Given the description of an element on the screen output the (x, y) to click on. 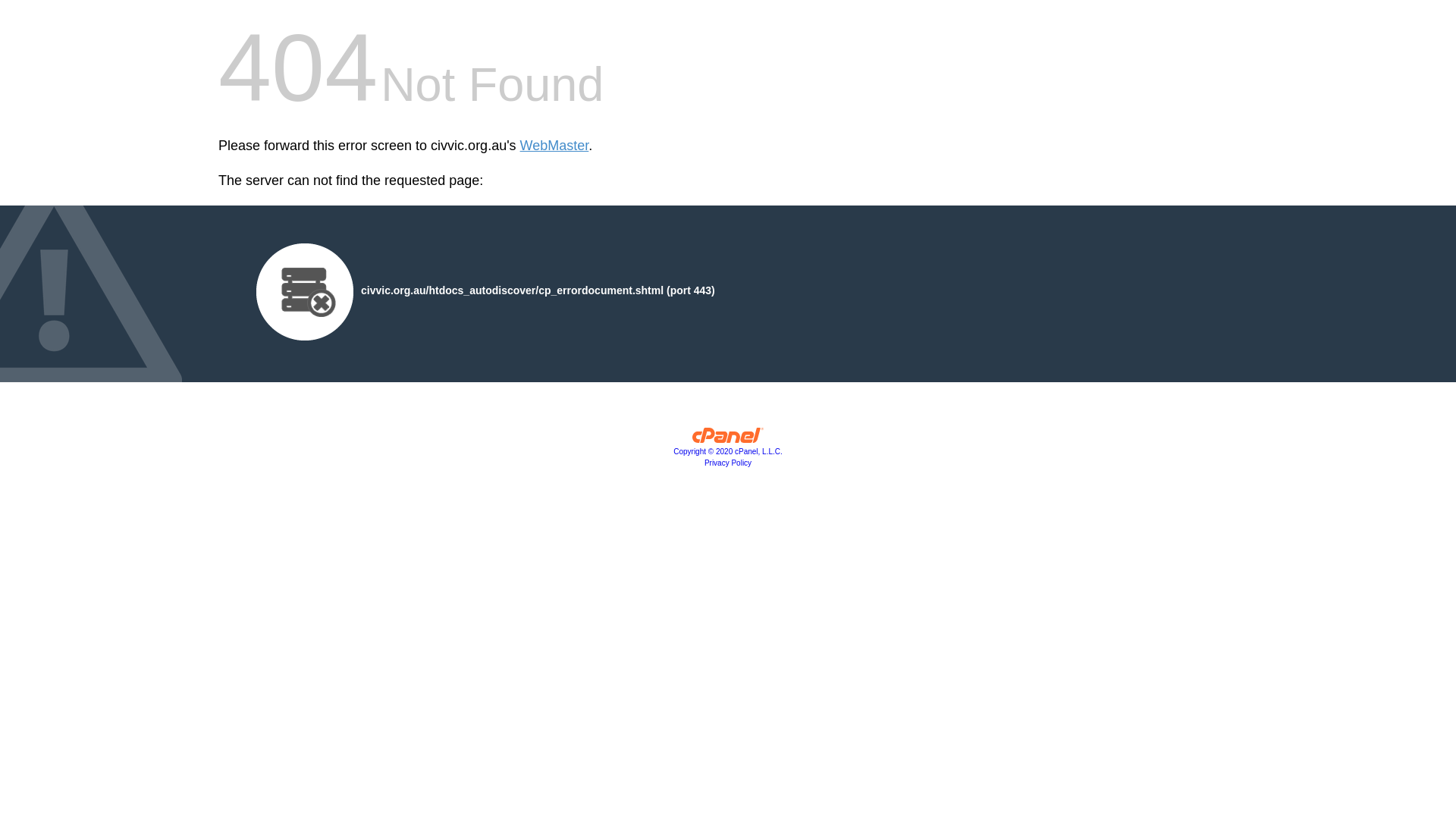
WebMaster Element type: text (554, 145)
Privacy Policy Element type: text (727, 462)
cPanel, Inc. Element type: hover (728, 439)
